Given the description of an element on the screen output the (x, y) to click on. 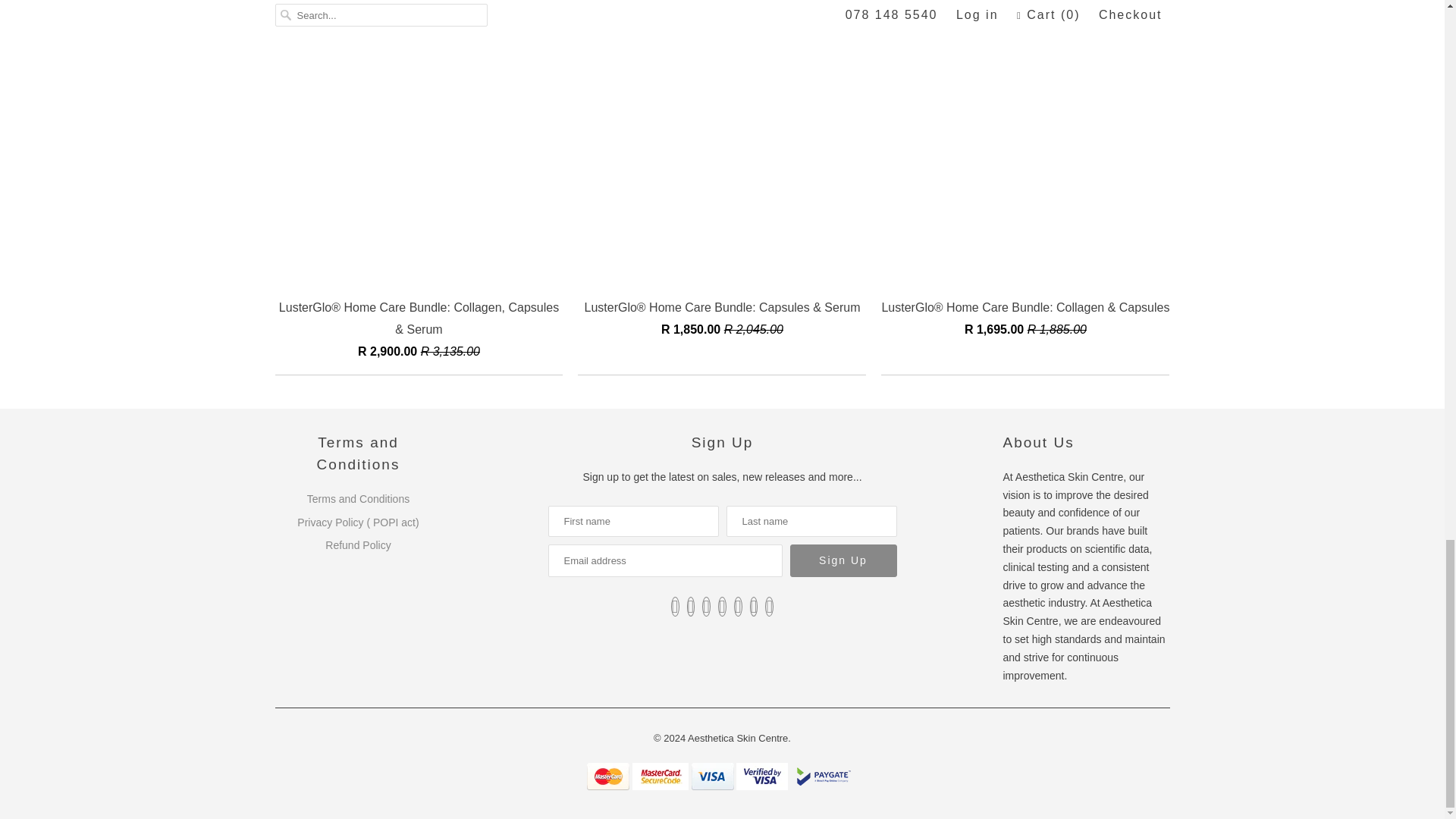
Sign Up (843, 560)
Refund Policy (357, 544)
Sign Up (843, 560)
Terms and Conditions (358, 499)
